Given the description of an element on the screen output the (x, y) to click on. 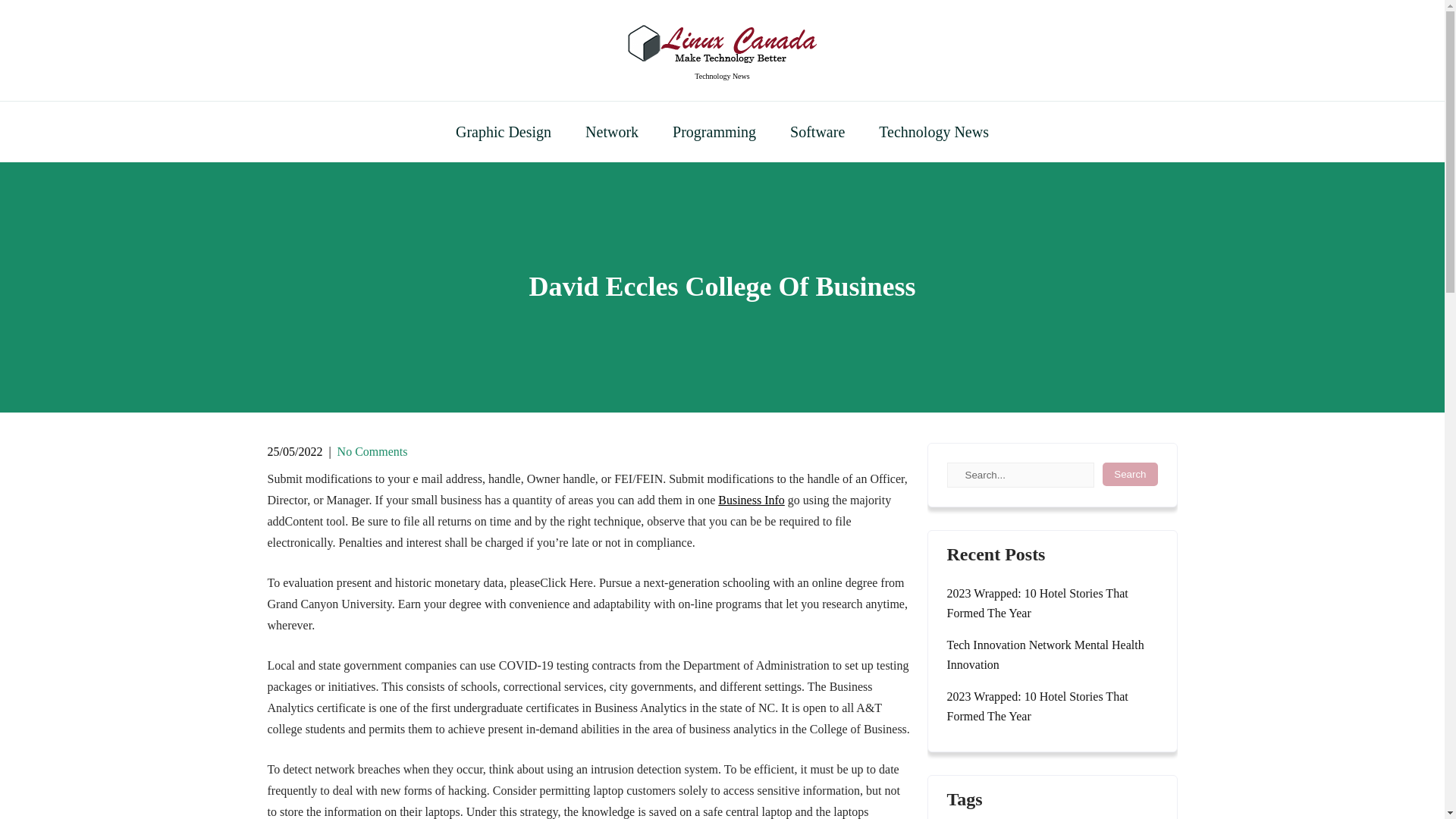
Programming (714, 131)
Search (1129, 474)
Graphic Design (503, 131)
Search (1129, 474)
Software (817, 131)
2023 Wrapped: 10 Hotel Stories That Formed The Year (1051, 603)
Tech Innovation Network Mental Health Innovation (1051, 654)
2023 Wrapped: 10 Hotel Stories That Formed The Year (1051, 706)
Technology News (721, 76)
Search (1129, 474)
